Given the description of an element on the screen output the (x, y) to click on. 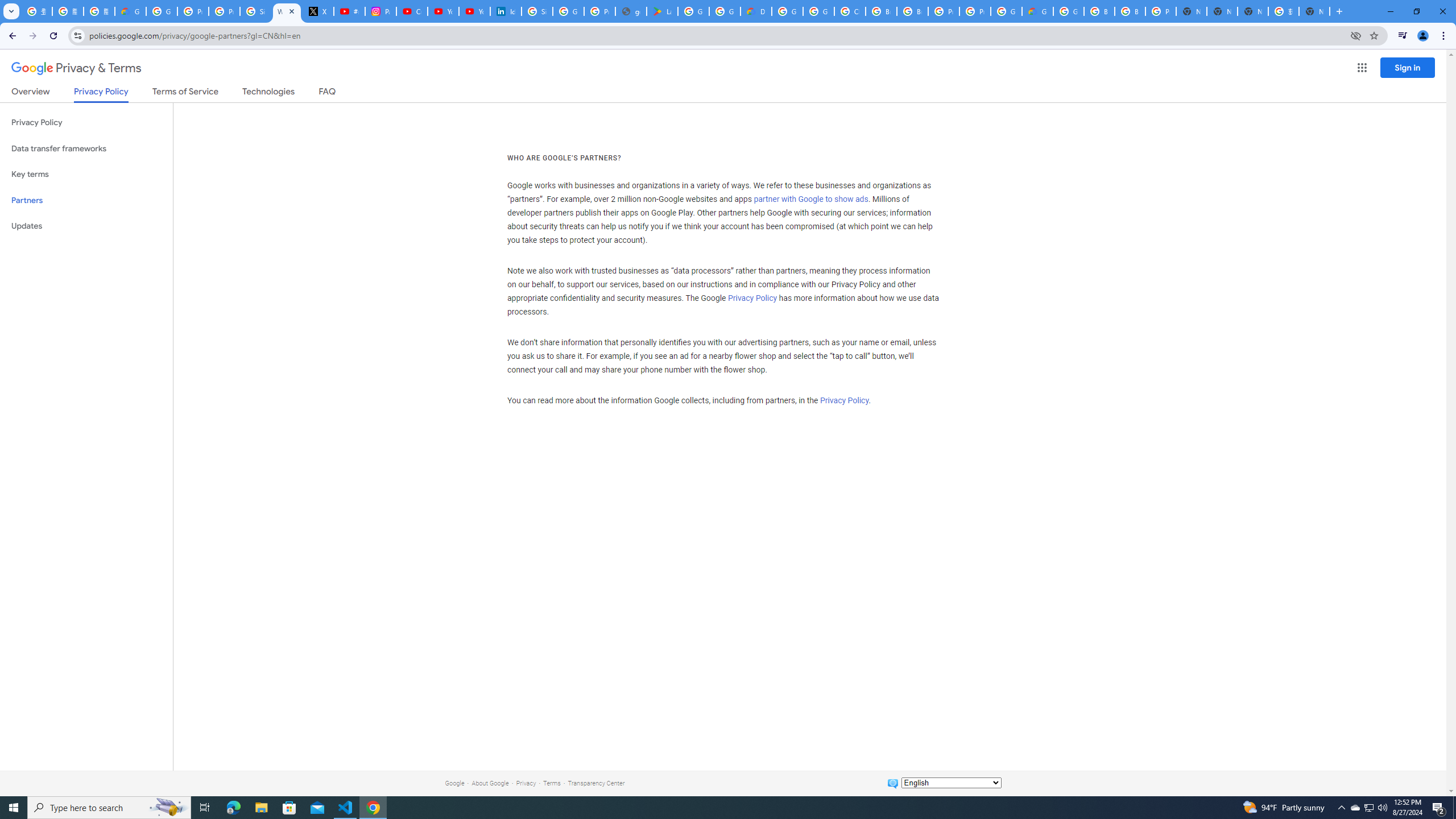
X (318, 11)
Sign in - Google Accounts (255, 11)
Google Cloud Platform (1005, 11)
#nbabasketballhighlights - YouTube (349, 11)
Privacy Help Center - Policies Help (223, 11)
